Given the description of an element on the screen output the (x, y) to click on. 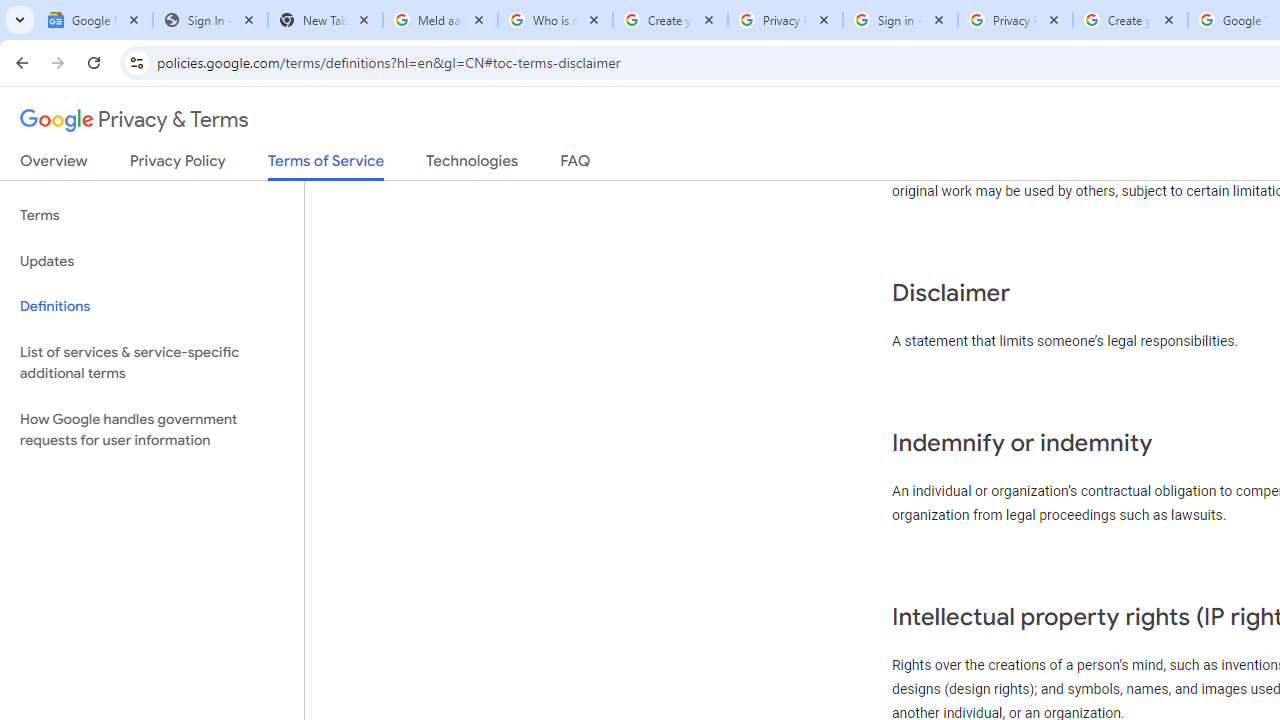
Terms of Service (326, 166)
New Tab (324, 20)
List of services & service-specific additional terms (152, 362)
Create your Google Account (1129, 20)
Privacy Policy (177, 165)
Updates (152, 261)
FAQ (575, 165)
Who is my administrator? - Google Account Help (555, 20)
How Google handles government requests for user information (152, 429)
Create your Google Account (670, 20)
Google News (95, 20)
